Given the description of an element on the screen output the (x, y) to click on. 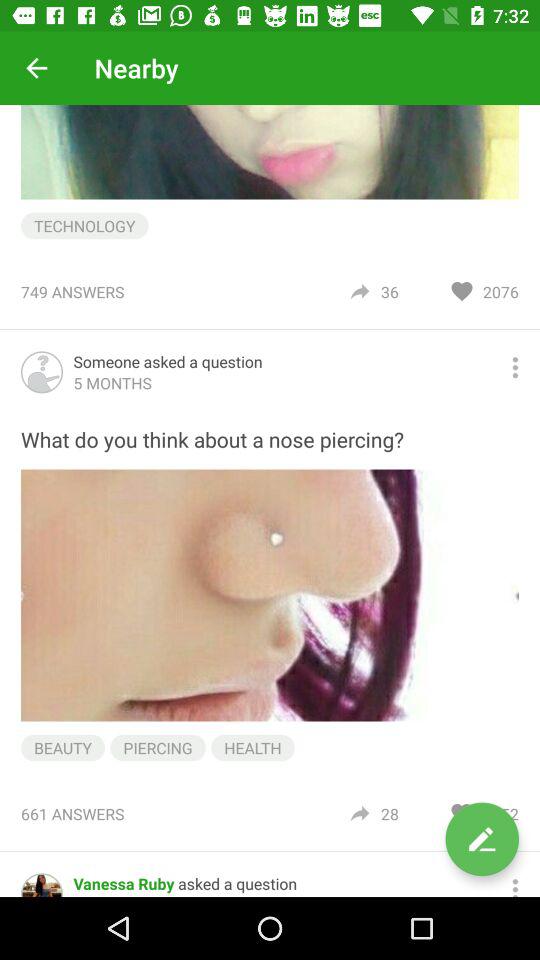
show notification options (515, 885)
